Given the description of an element on the screen output the (x, y) to click on. 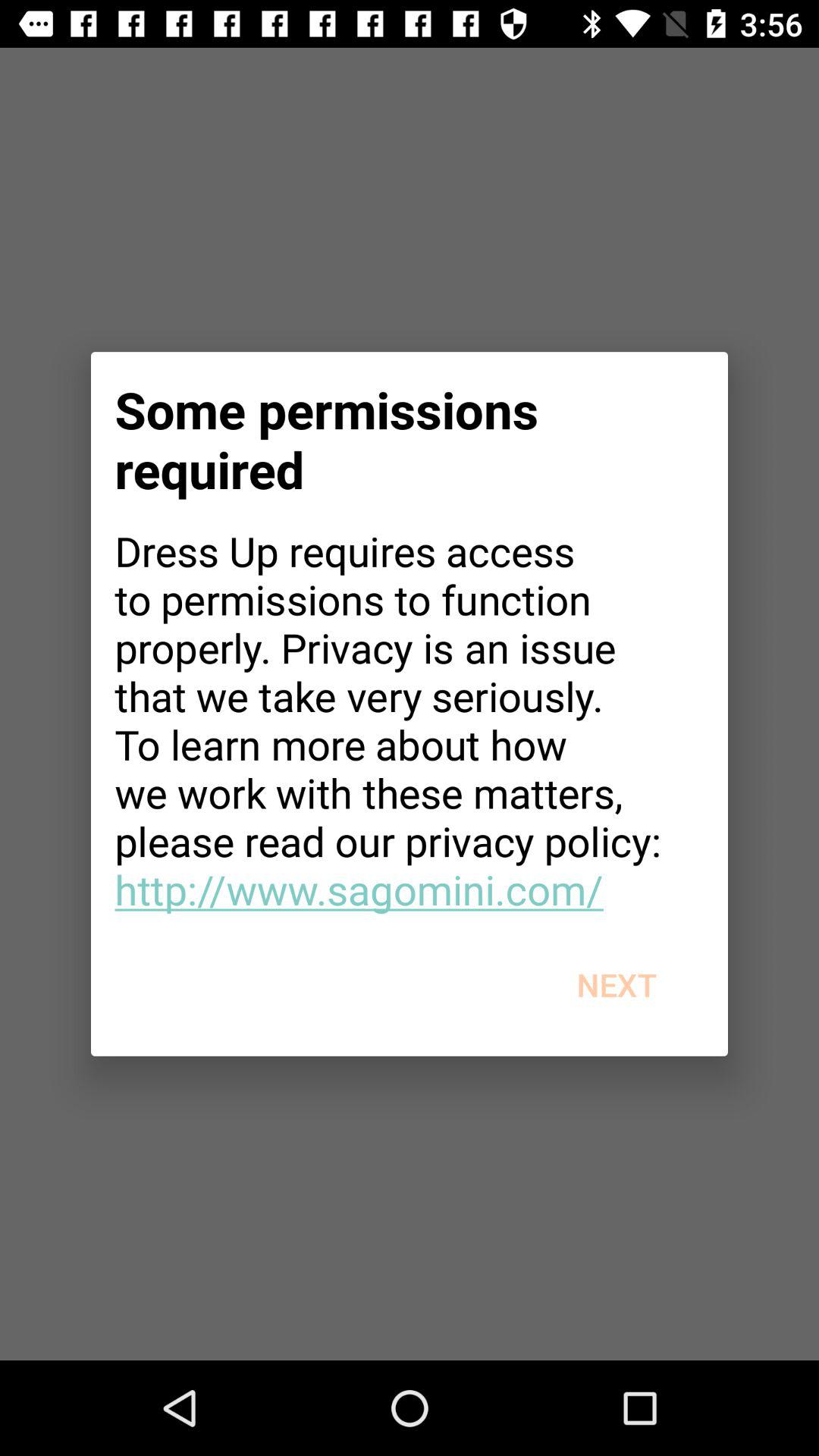
scroll to the next icon (616, 984)
